Given the description of an element on the screen output the (x, y) to click on. 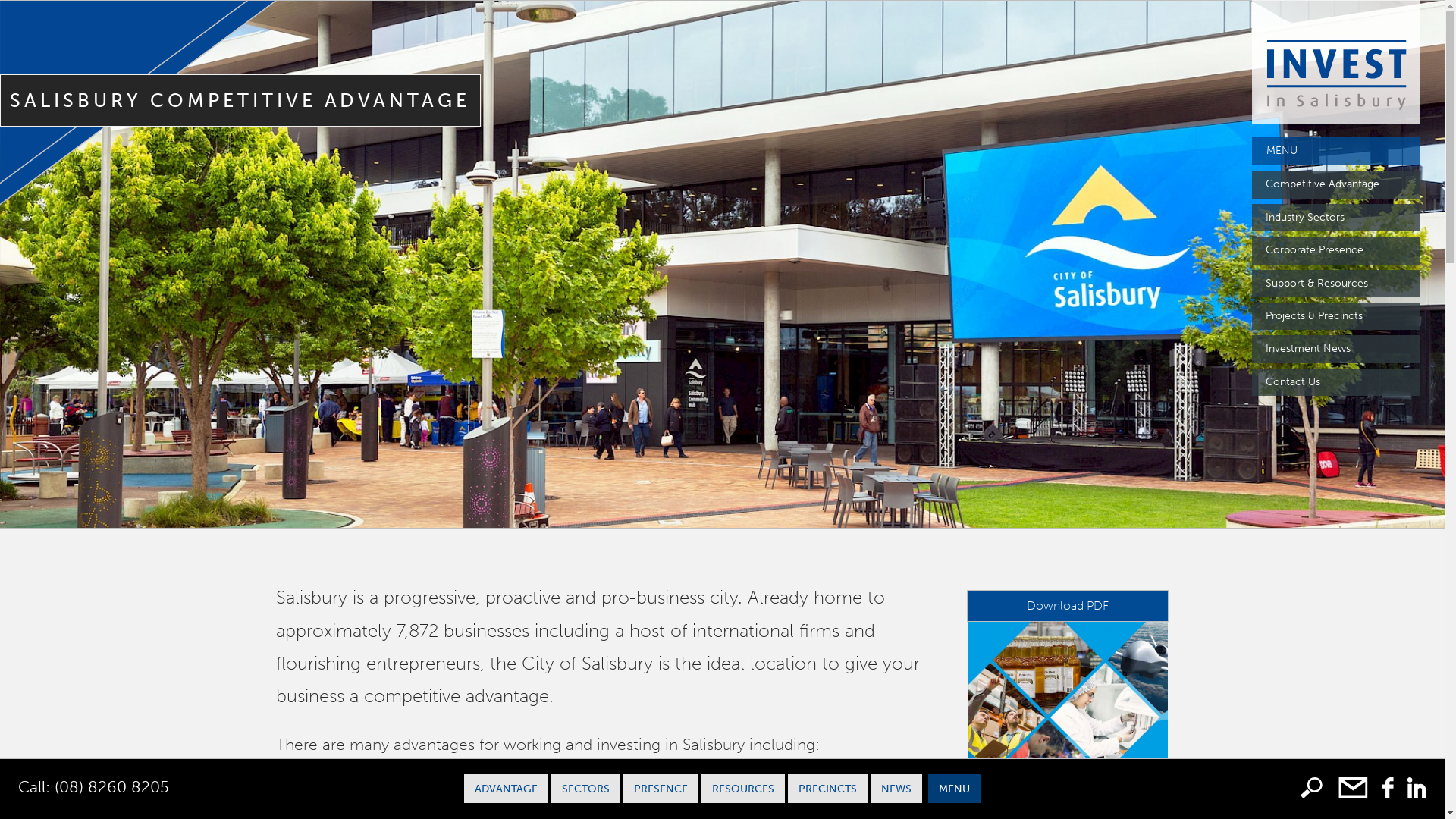
Competitive Advantage Element type: text (1336, 183)
Competitive local costs Element type: text (380, 786)
Contact Us Element type: text (1336, 381)
City of Salisbury LinkedIn Element type: hover (1416, 787)
Contact City of Salisbury Element type: hover (1356, 787)
Support & Resources Element type: text (1336, 283)
Corporate Presence Element type: text (1336, 249)
Invest in Salisbury Home Element type: hover (1336, 62)
(08) 8260 8205 Element type: text (111, 786)
ADVANTAGE Element type: text (506, 787)
MENU Element type: text (1336, 150)
Projects & Precincts Element type: text (1336, 315)
PRECINCTS Element type: text (827, 787)
SECTORS Element type: text (585, 787)
Investment News Element type: text (1336, 348)
PRESENCE Element type: text (660, 787)
MENU Element type: text (954, 787)
Industry Sectors Element type: text (1336, 217)
City of Salisbury Facebook Element type: hover (1391, 787)
RESOURCES Element type: text (742, 787)
NEWS Element type: text (896, 787)
